Given the description of an element on the screen output the (x, y) to click on. 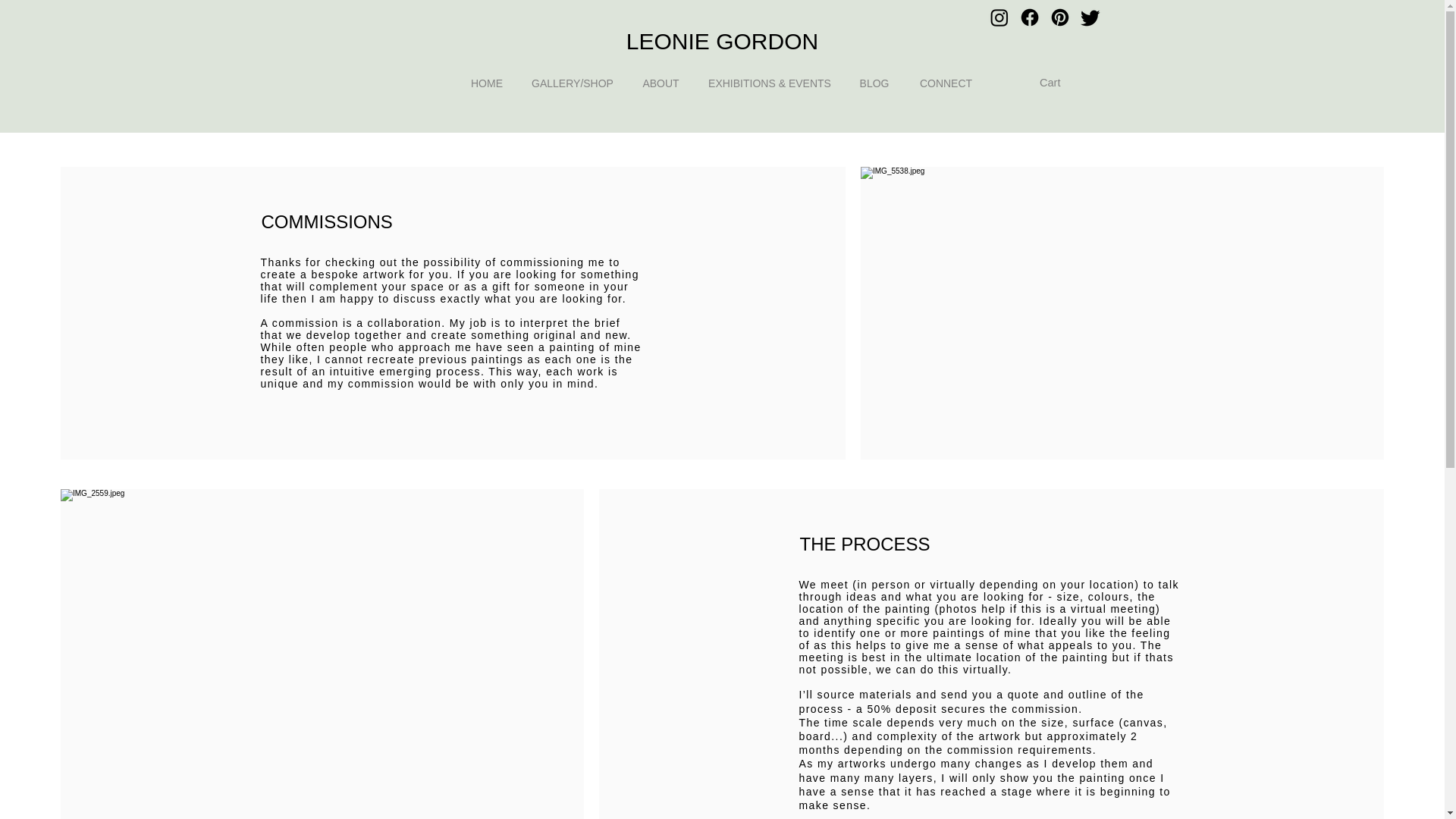
CONNECT (945, 83)
Cart (1058, 82)
HOME (486, 83)
ABOUT (660, 83)
BLOG (874, 83)
Cart (1058, 82)
